Given the description of an element on the screen output the (x, y) to click on. 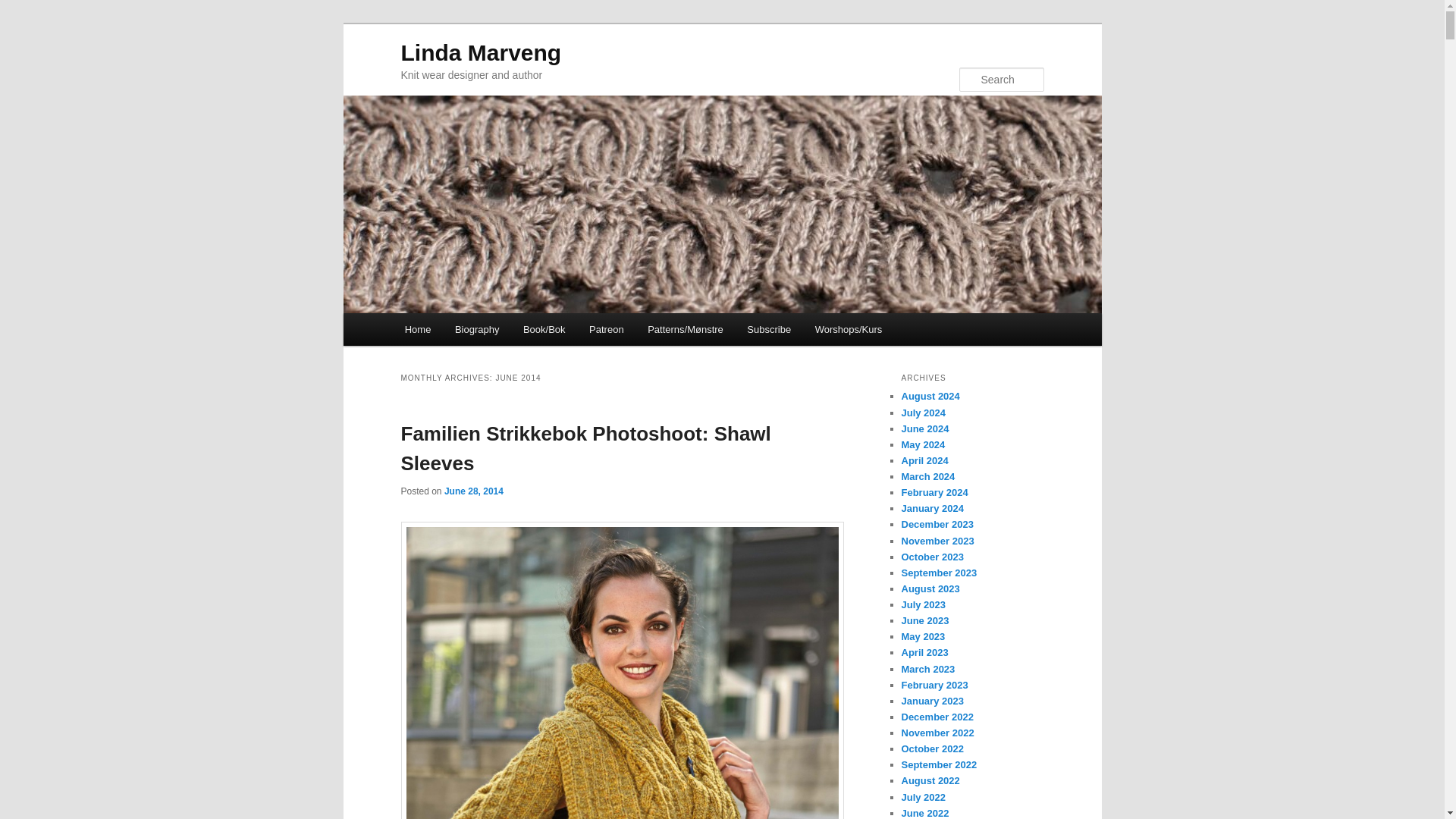
June 28, 2014 (473, 491)
Biography (476, 328)
6:17 am (473, 491)
Linda Marveng (480, 52)
Patreon (605, 328)
Familien Strikkebok Photoshoot: Shawl Sleeves (585, 448)
Home (417, 328)
Subscribe (769, 328)
Search (24, 8)
